Given the description of an element on the screen output the (x, y) to click on. 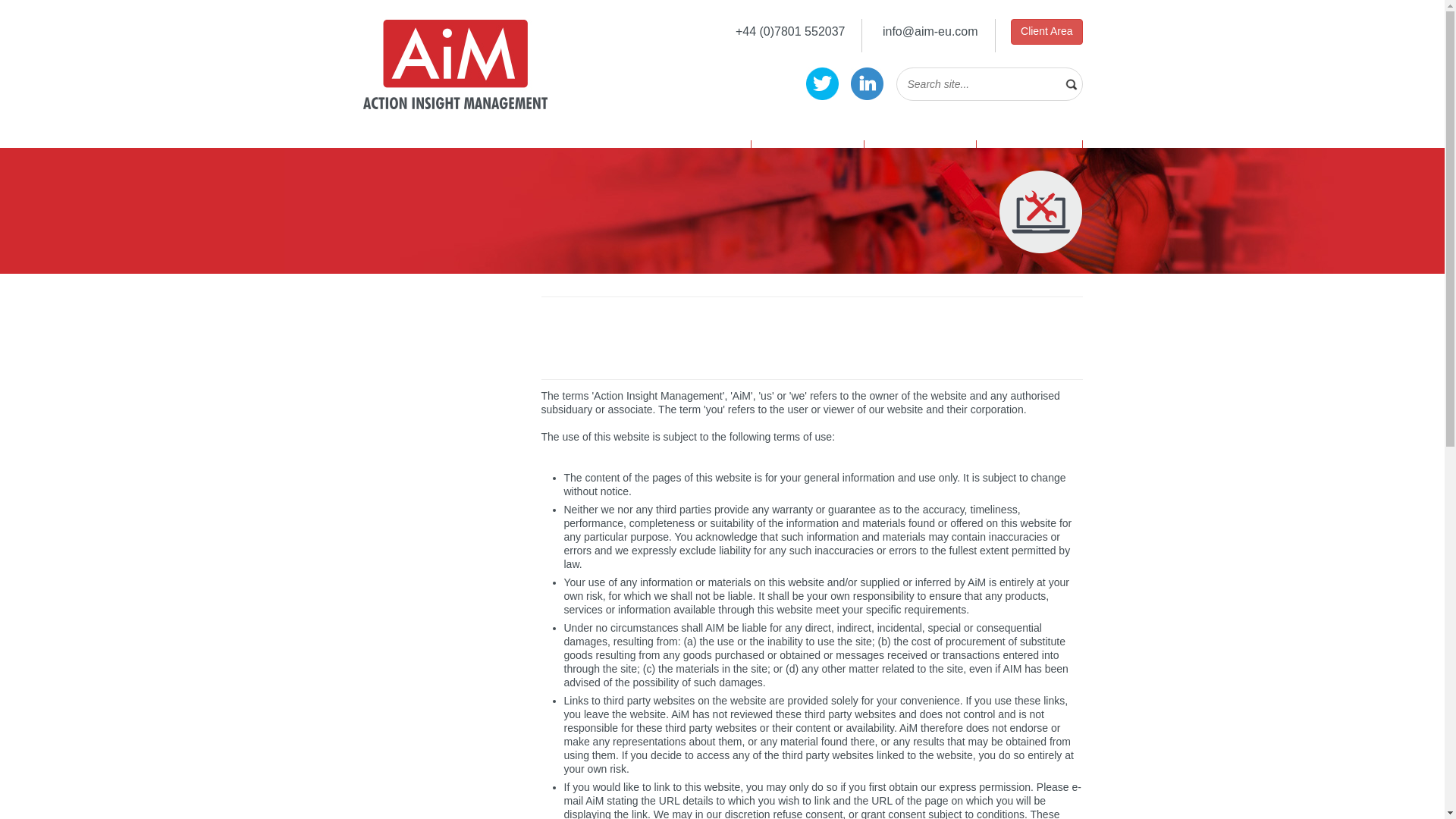
Twitter (822, 83)
Linked In (866, 83)
Client Area (1045, 31)
Search (21, 7)
